Given the description of an element on the screen output the (x, y) to click on. 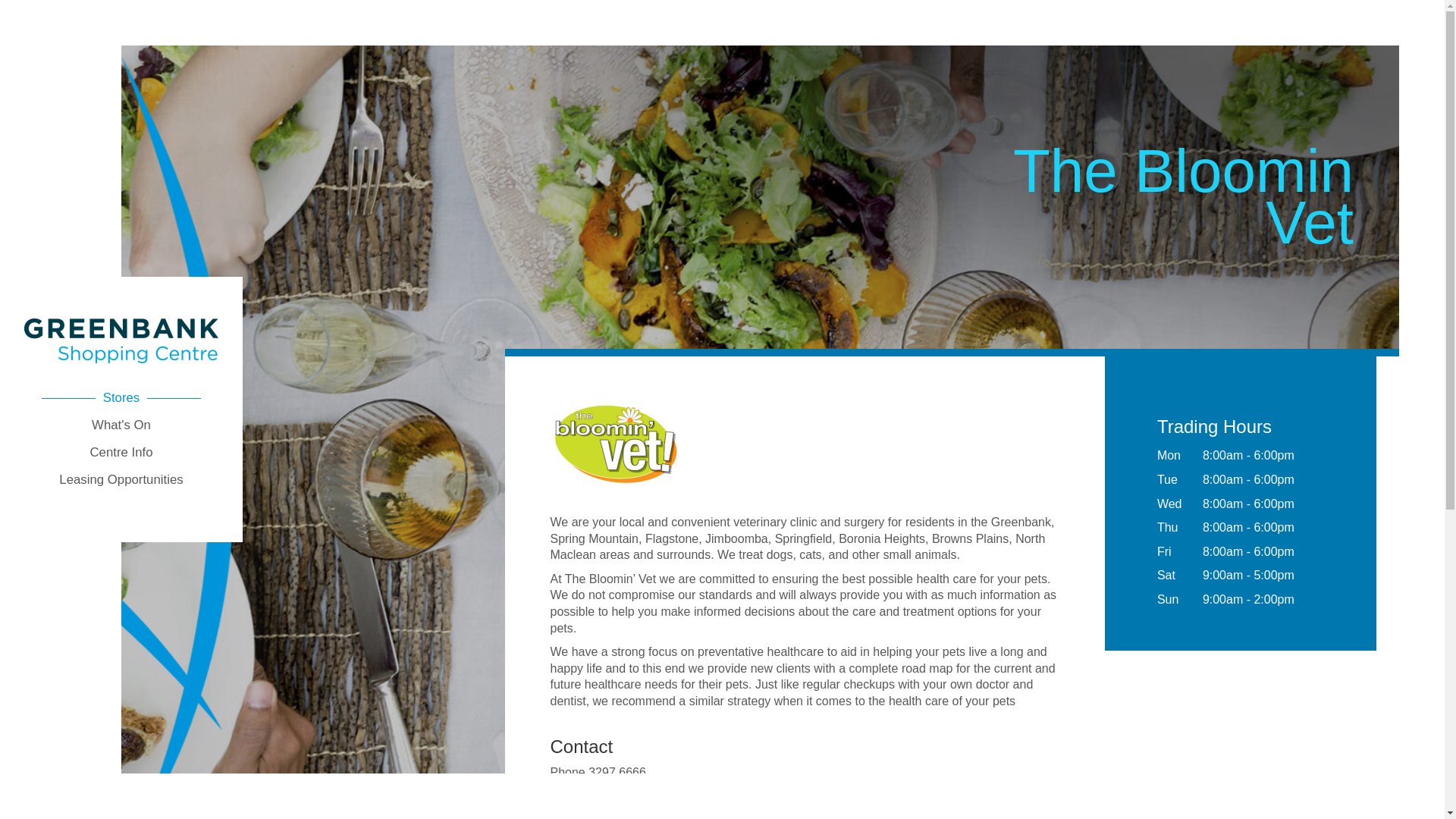
Leasing Opportunities Element type: text (121, 478)
Stores Element type: text (121, 397)
Centre Info Element type: text (121, 451)
3297 6666 Element type: text (617, 771)
Visit Reatailers Website Element type: hover (614, 503)
What's On Element type: text (121, 424)
